Given the description of an element on the screen output the (x, y) to click on. 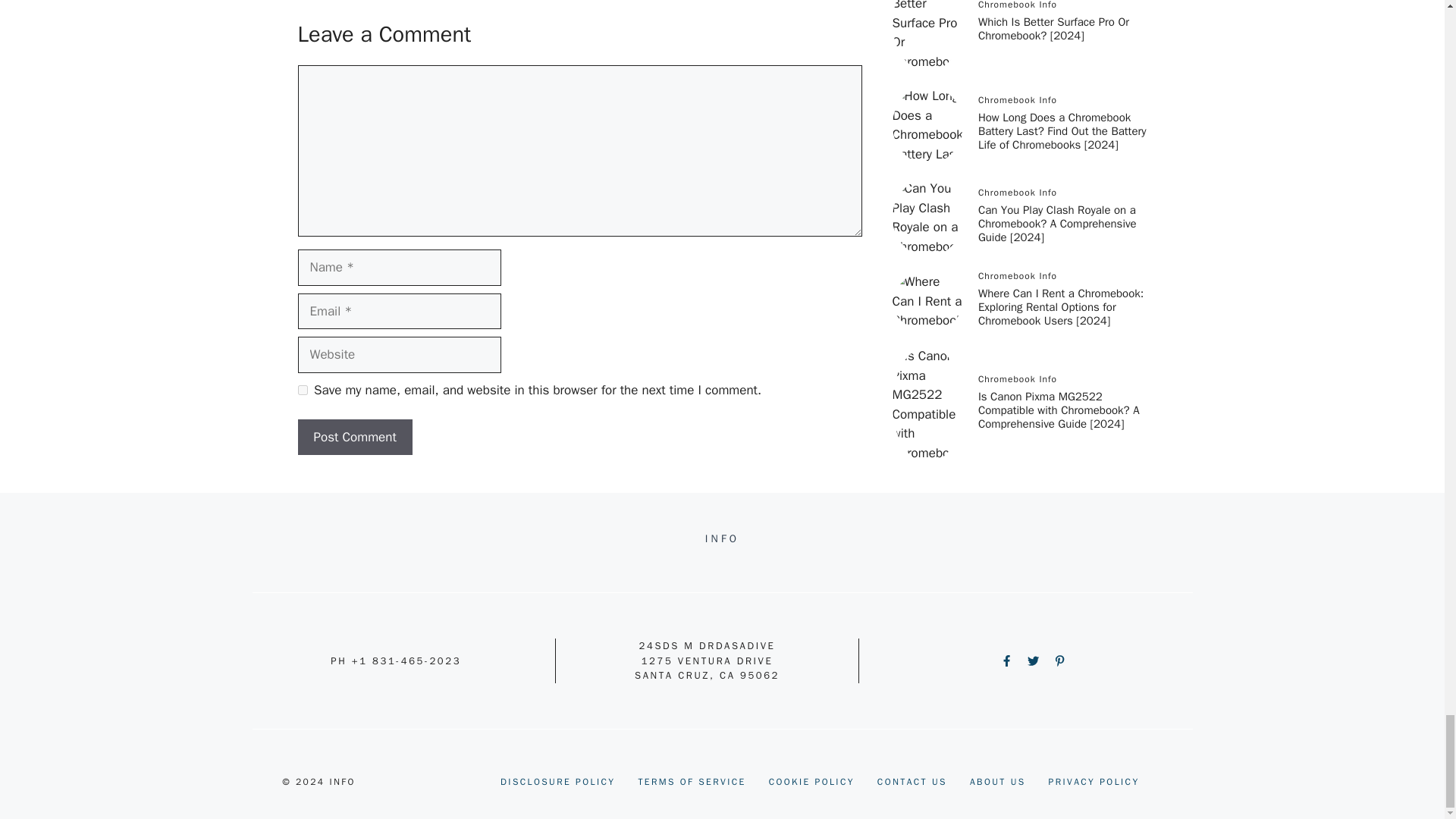
yes (302, 389)
Post Comment (354, 437)
